Given the description of an element on the screen output the (x, y) to click on. 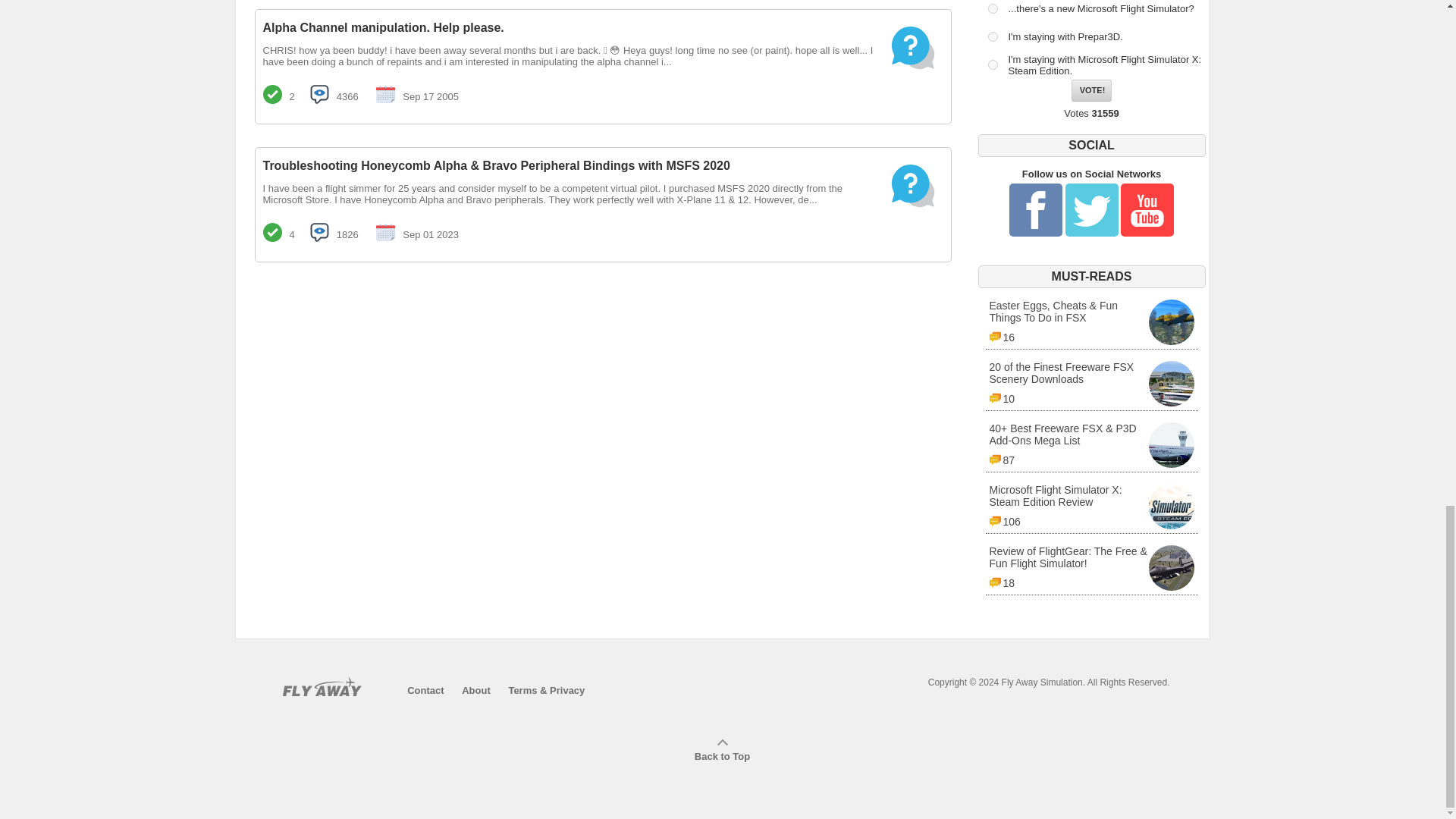
7 (992, 36)
9 (1090, 383)
Vote! (992, 64)
Vote! (1091, 90)
6 (1091, 90)
